Given the description of an element on the screen output the (x, y) to click on. 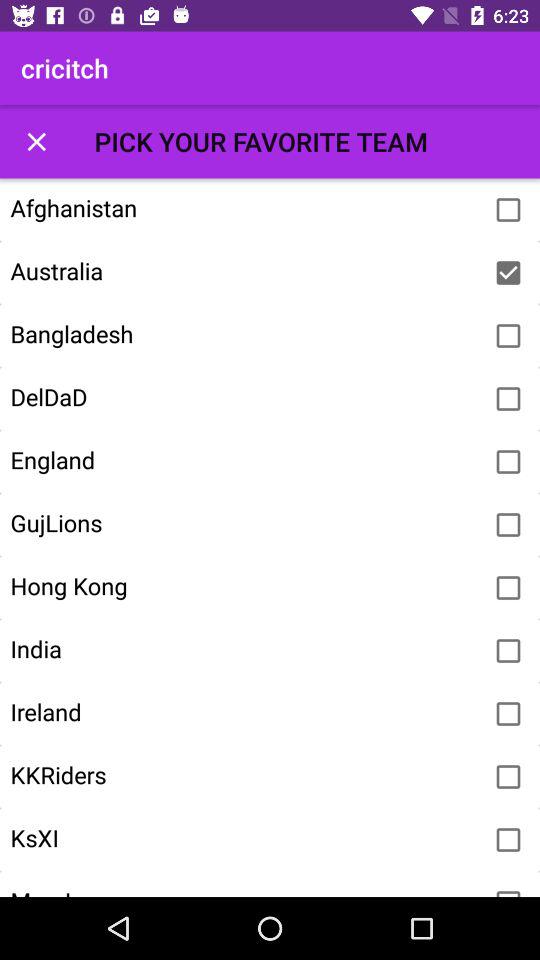
select kkriders team (508, 777)
